Given the description of an element on the screen output the (x, y) to click on. 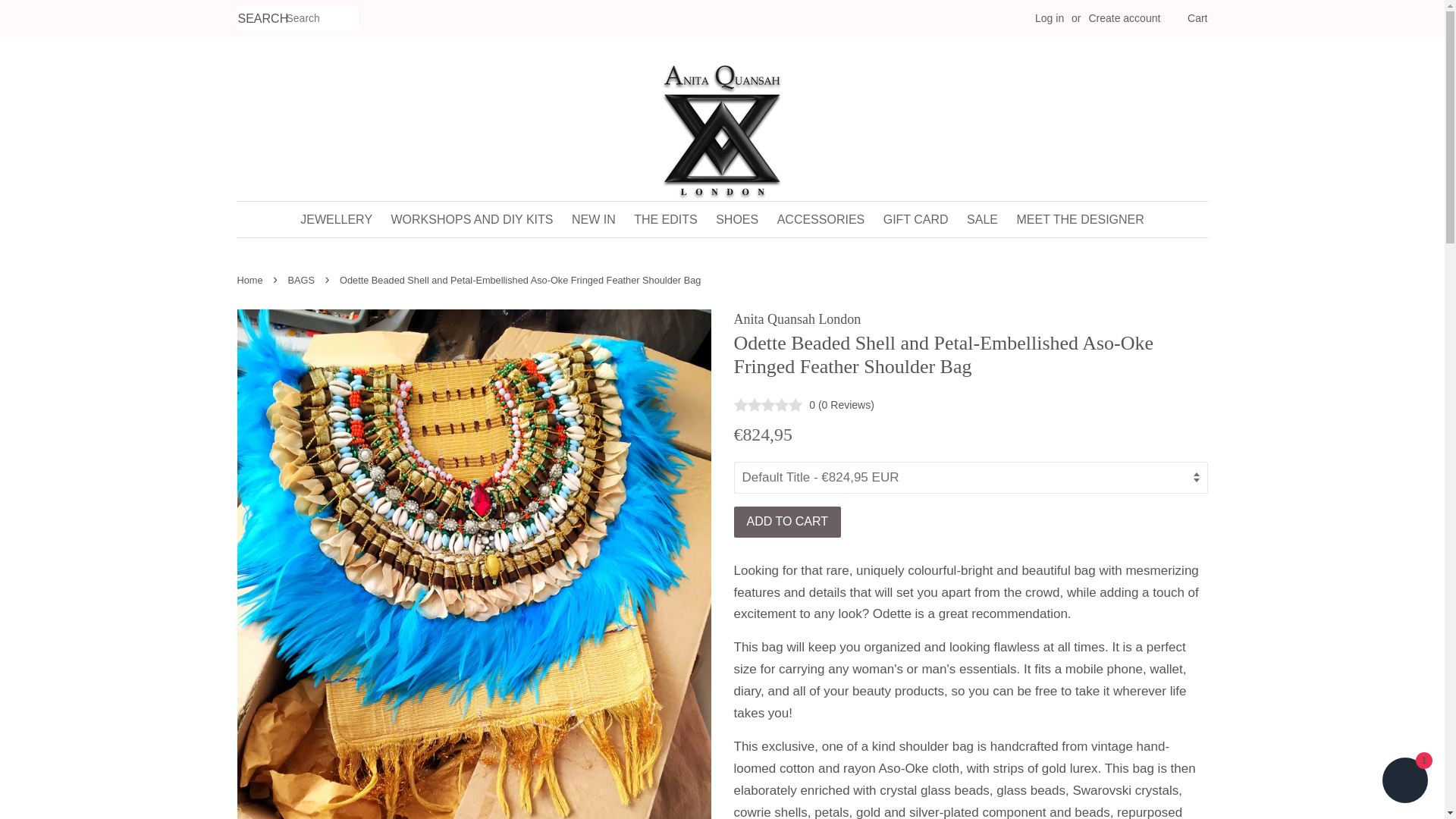
SEARCH (260, 18)
Back to the frontpage (250, 279)
Log in (1049, 18)
Cart (1197, 18)
Shopify online store chat (1404, 781)
Create account (1123, 18)
